Given the description of an element on the screen output the (x, y) to click on. 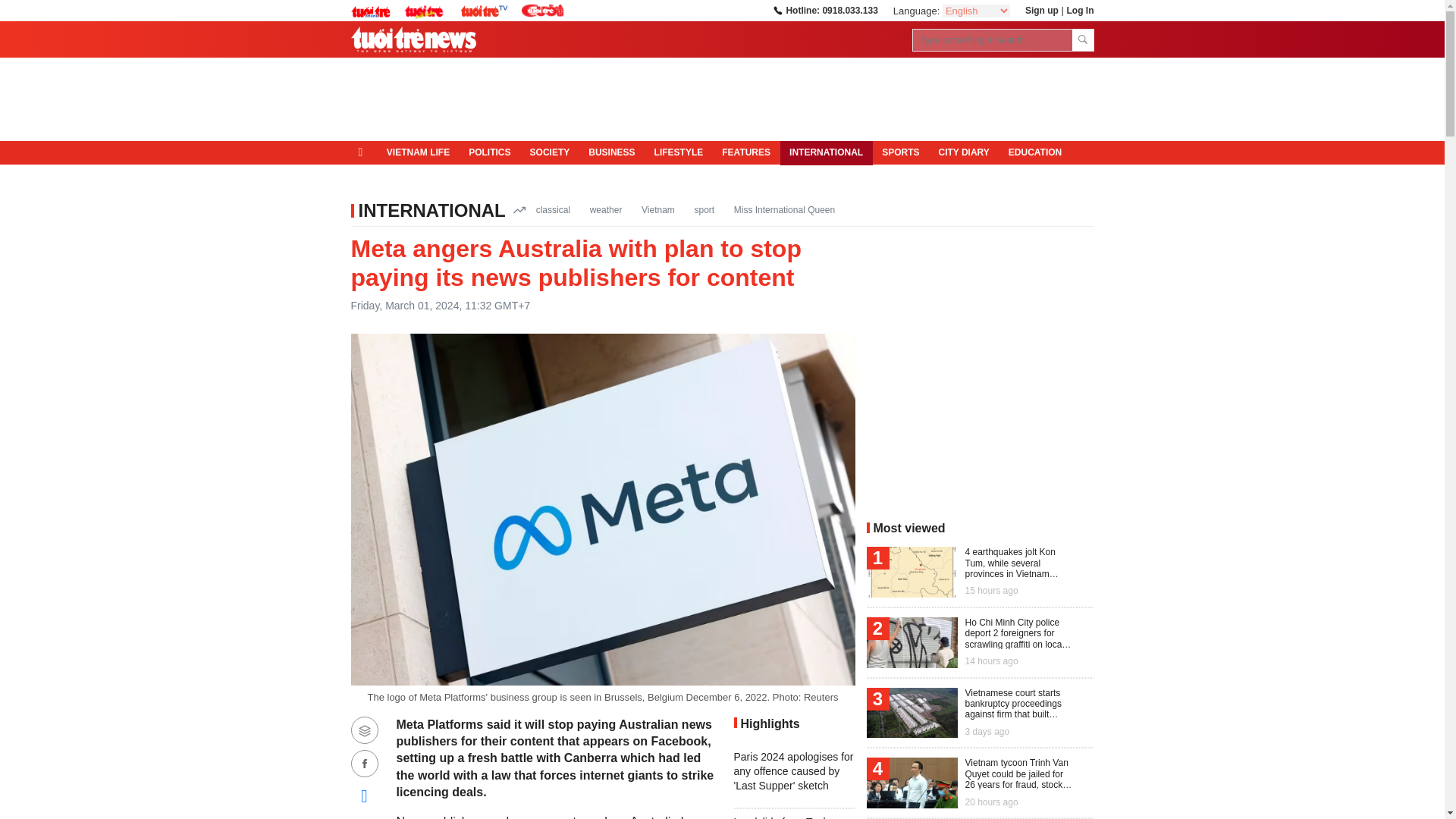
weather (605, 209)
POLITICS (489, 152)
Lifestyle (679, 152)
Politics (489, 152)
BUSINESS (612, 152)
SPORTS (900, 152)
Vietname Life (417, 152)
Business (612, 152)
Miss International Queen (784, 209)
Features (746, 152)
International (826, 152)
Society (549, 152)
FEATURES (746, 152)
LIFESTYLE (679, 152)
VIETNAM LIFE (417, 152)
